Given the description of an element on the screen output the (x, y) to click on. 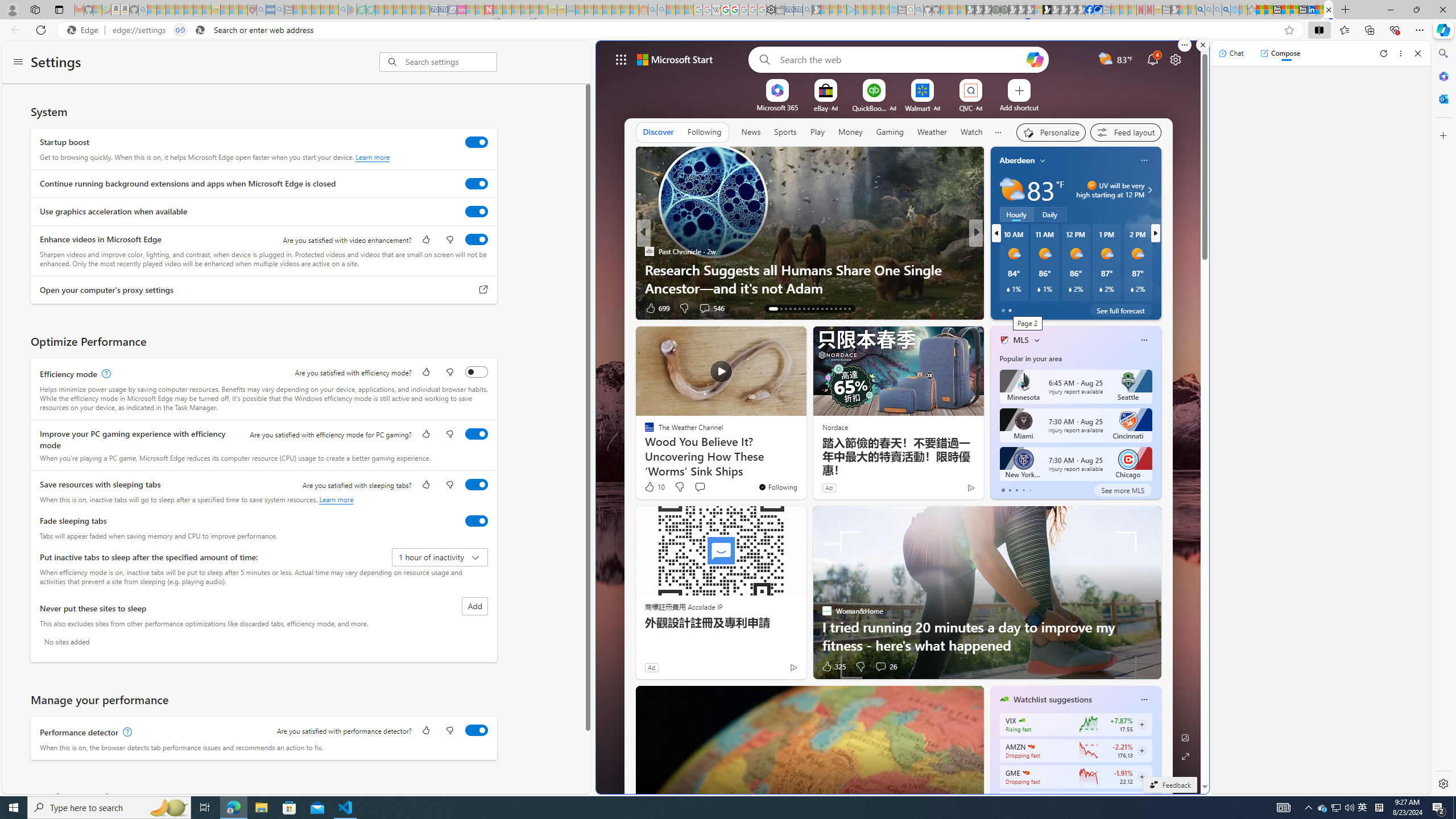
AutomationID: tab-27 (840, 308)
tab-0 (1002, 489)
Aberdeen (1016, 160)
Fade sleeping tabs (476, 520)
4 Like (652, 307)
View comments 26 Comment (880, 666)
